Given the description of an element on the screen output the (x, y) to click on. 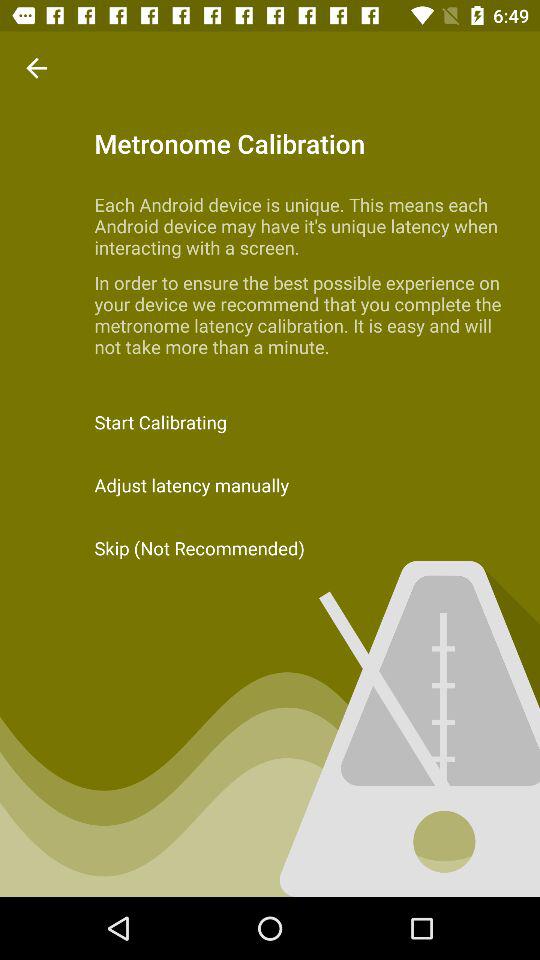
choose the item above the skip (not recommended) (270, 484)
